Given the description of an element on the screen output the (x, y) to click on. 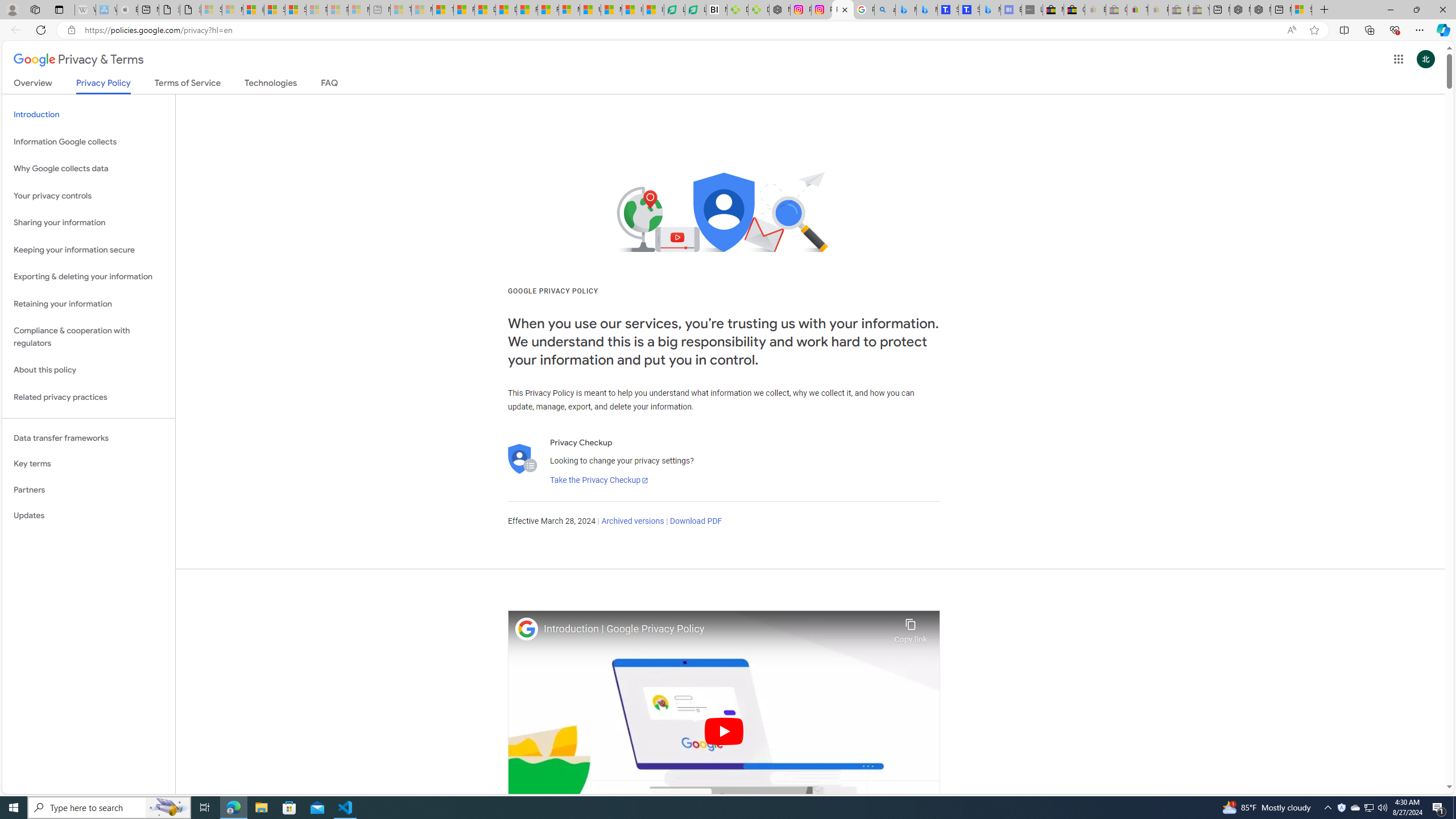
Wikipedia - Sleeping (84, 9)
Terms of Service (187, 84)
Why Google collects data (88, 168)
alabama high school quarterback dies - Search (884, 9)
Partners (88, 489)
Sign in to your Microsoft account - Sleeping (211, 9)
